Given the description of an element on the screen output the (x, y) to click on. 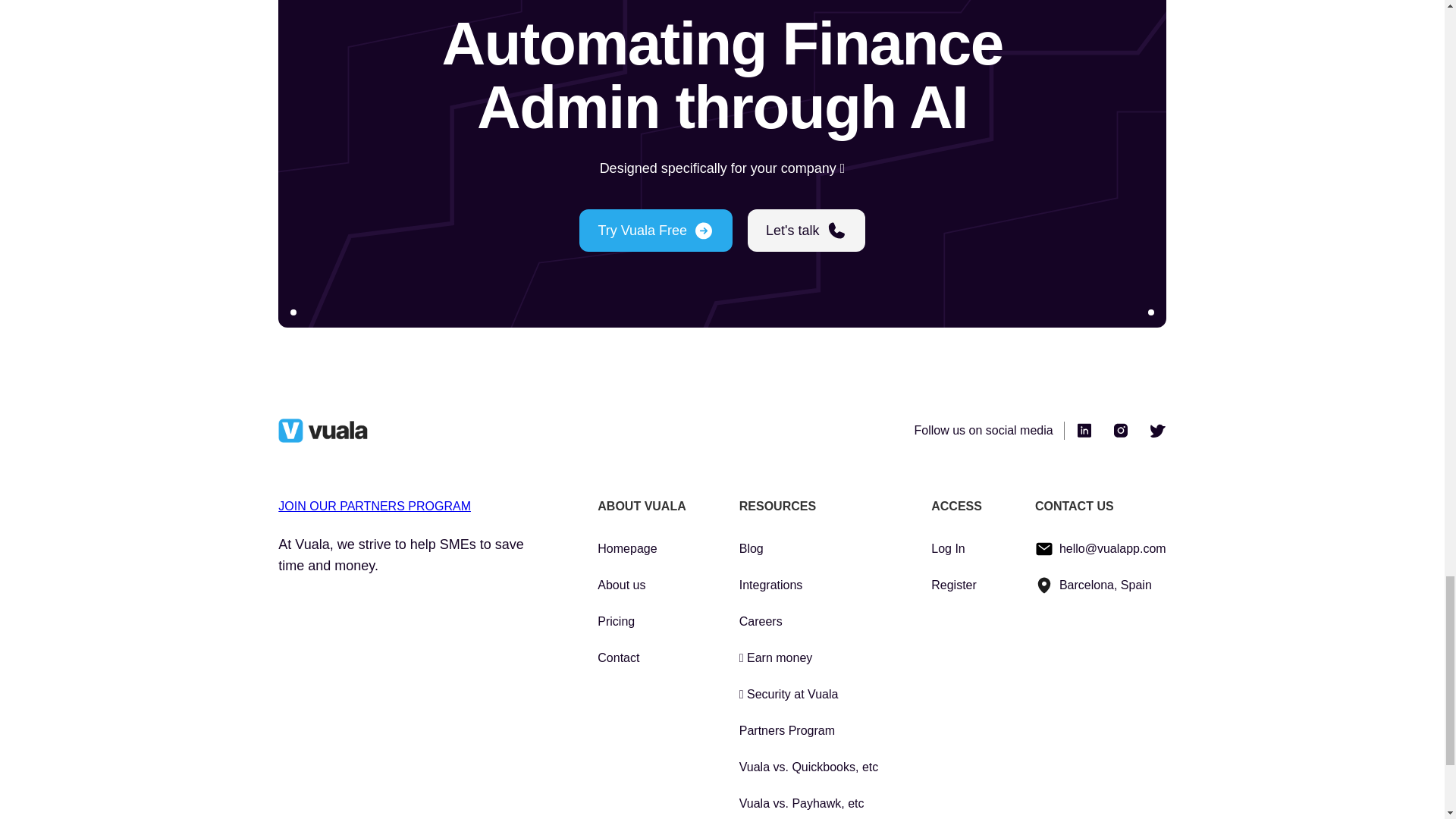
Homepage (640, 548)
Careers (809, 621)
JOIN OUR PARTNERS PROGRAM (374, 505)
Let's talk (806, 230)
Pricing (640, 621)
Try Vuala Free (655, 230)
Blog (809, 548)
Contact (640, 658)
About us (640, 585)
Partners Program (809, 730)
